Given the description of an element on the screen output the (x, y) to click on. 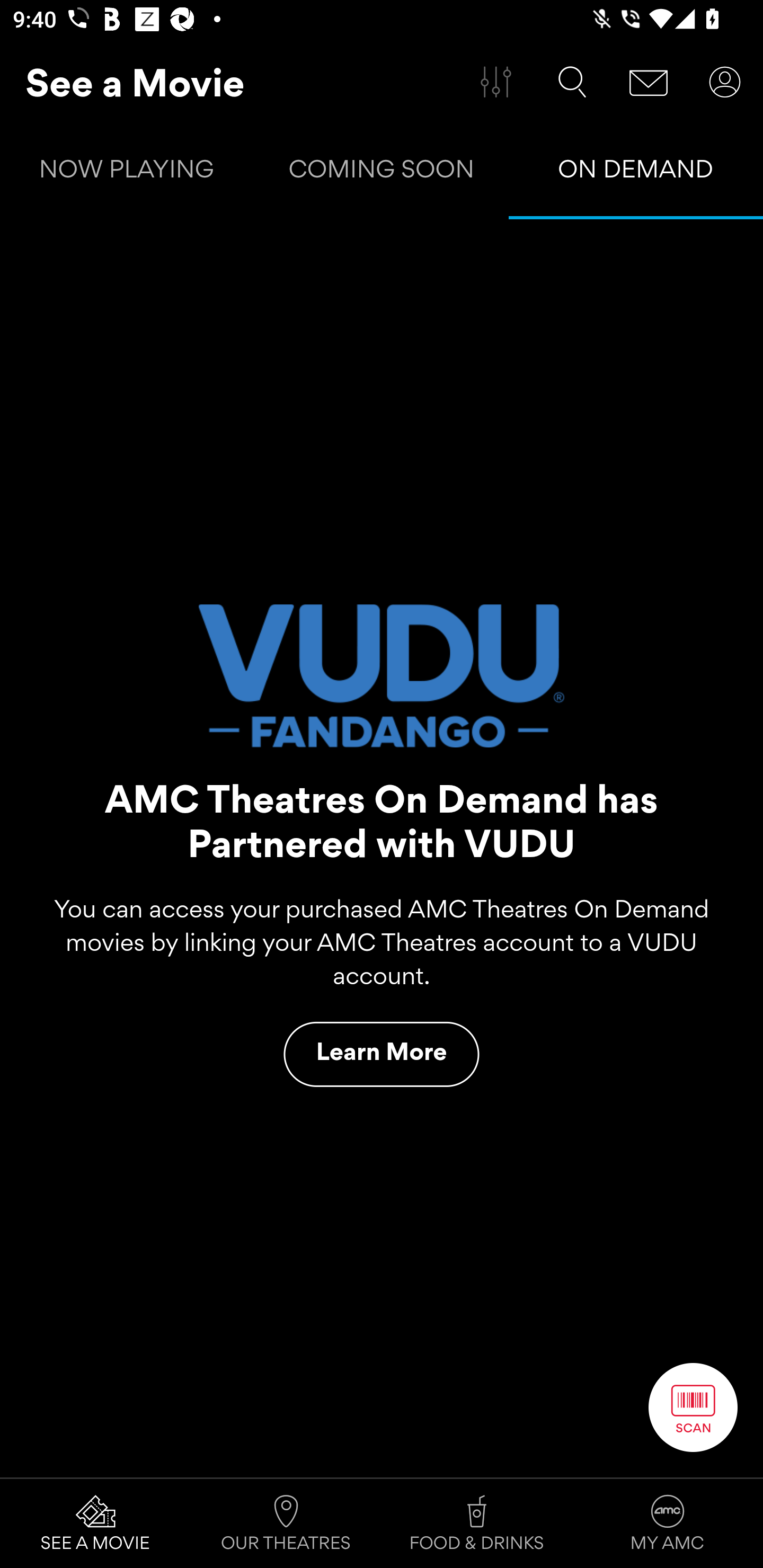
Search (572, 82)
Message Center (648, 82)
User Account (724, 82)
NOW PLAYING
Tab 1 of 3 (127, 173)
COMING SOON
Tab 2 of 3 (381, 173)
ON DEMAND
Tab 3 of 3 (635, 173)
Learn More (381, 1054)
Scan Button (692, 1406)
SEE A MOVIE
Tab 1 of 4 (95, 1523)
OUR THEATRES
Tab 2 of 4 (285, 1523)
FOOD & DRINKS
Tab 3 of 4 (476, 1523)
MY AMC
Tab 4 of 4 (667, 1523)
